Given the description of an element on the screen output the (x, y) to click on. 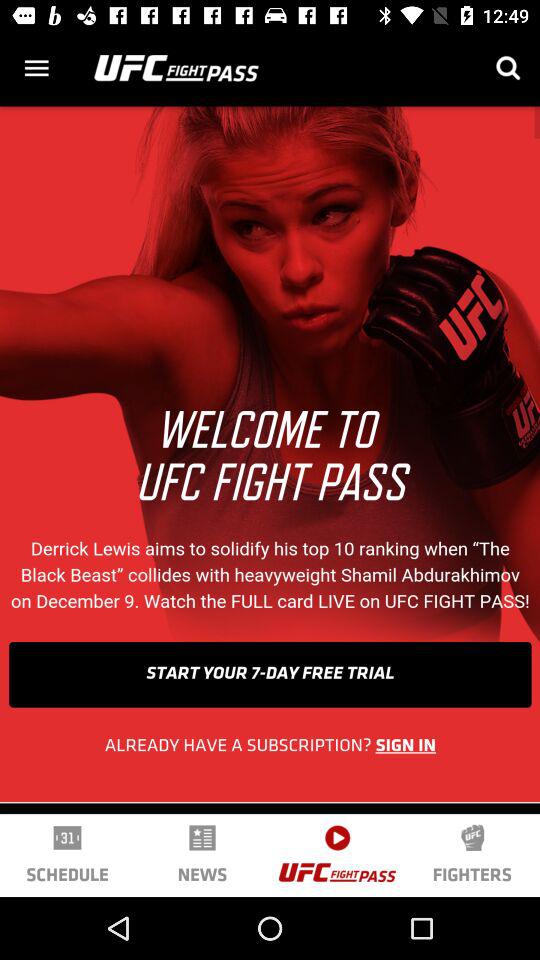
menu (36, 68)
